Given the description of an element on the screen output the (x, y) to click on. 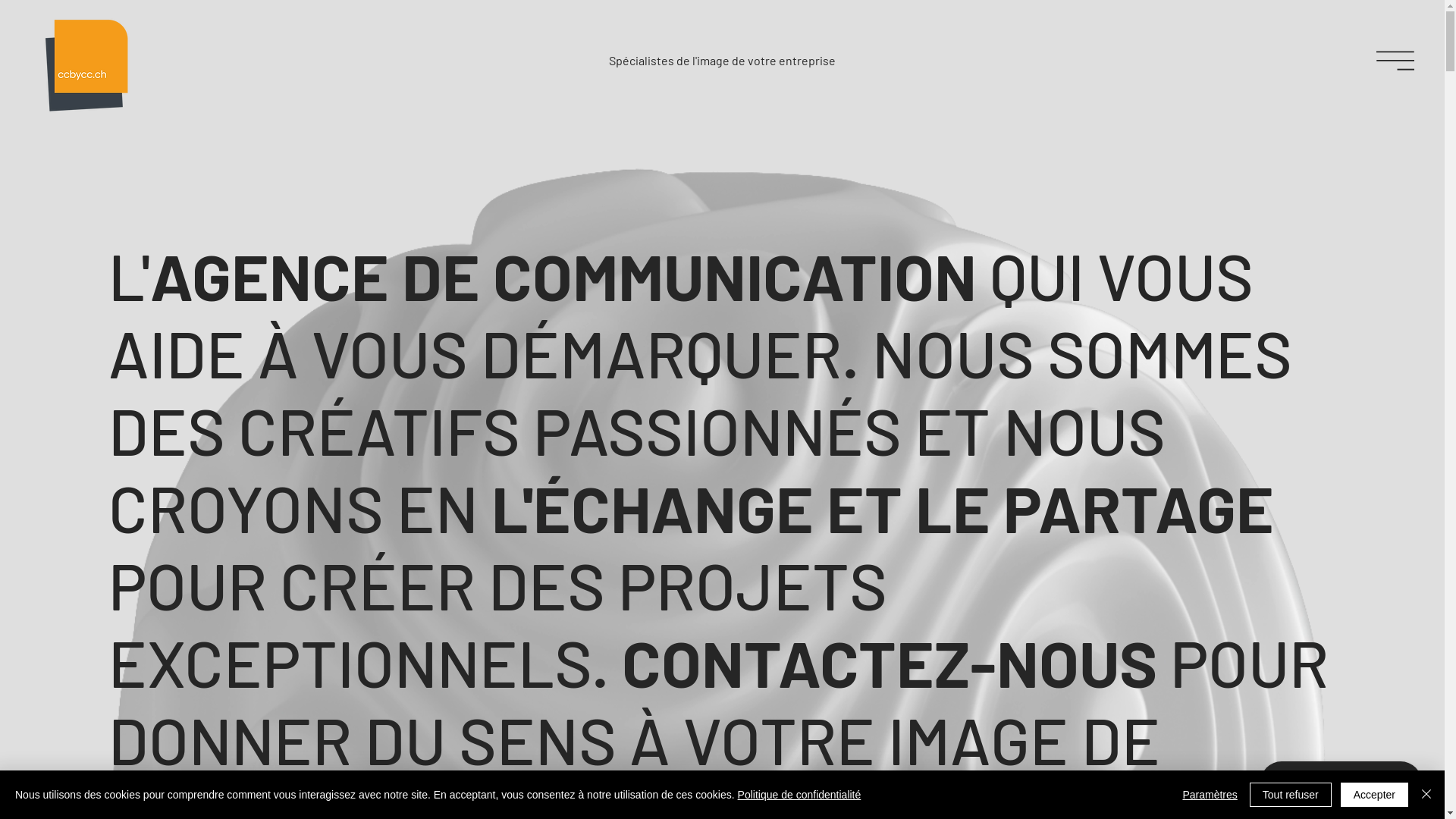
Accepter Element type: text (1374, 794)
Tout refuser Element type: text (1290, 794)
